Given the description of an element on the screen output the (x, y) to click on. 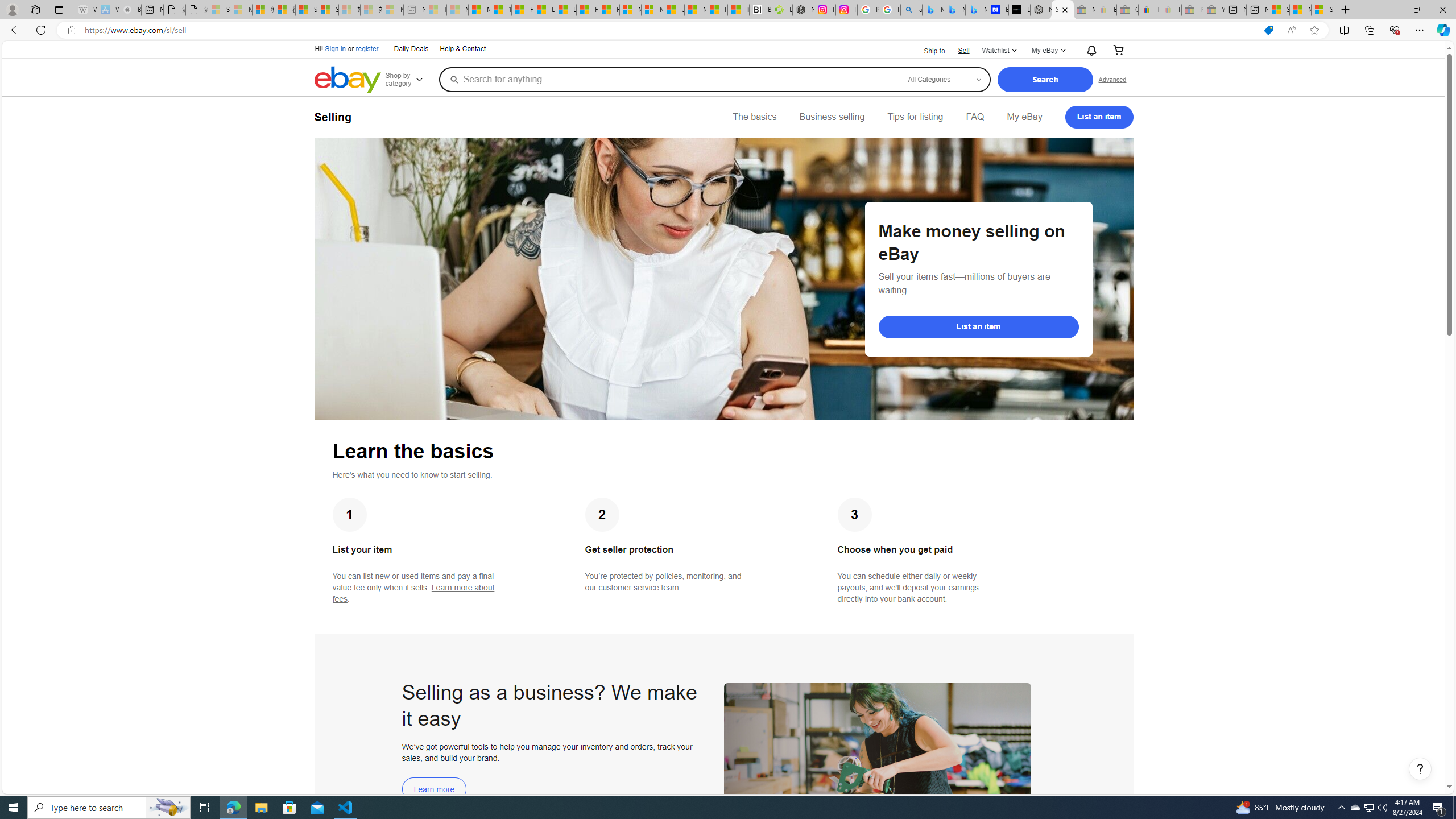
WatchlistExpand Watch List (998, 50)
Tips for listing (914, 116)
This site has coupons! Shopping in Microsoft Edge (1268, 29)
eBay Home (347, 79)
register (366, 49)
FAQ (974, 116)
Yard, Garden & Outdoor Living - Sleeping (1214, 9)
Sign in (335, 49)
Search for anything (667, 78)
